Given the description of an element on the screen output the (x, y) to click on. 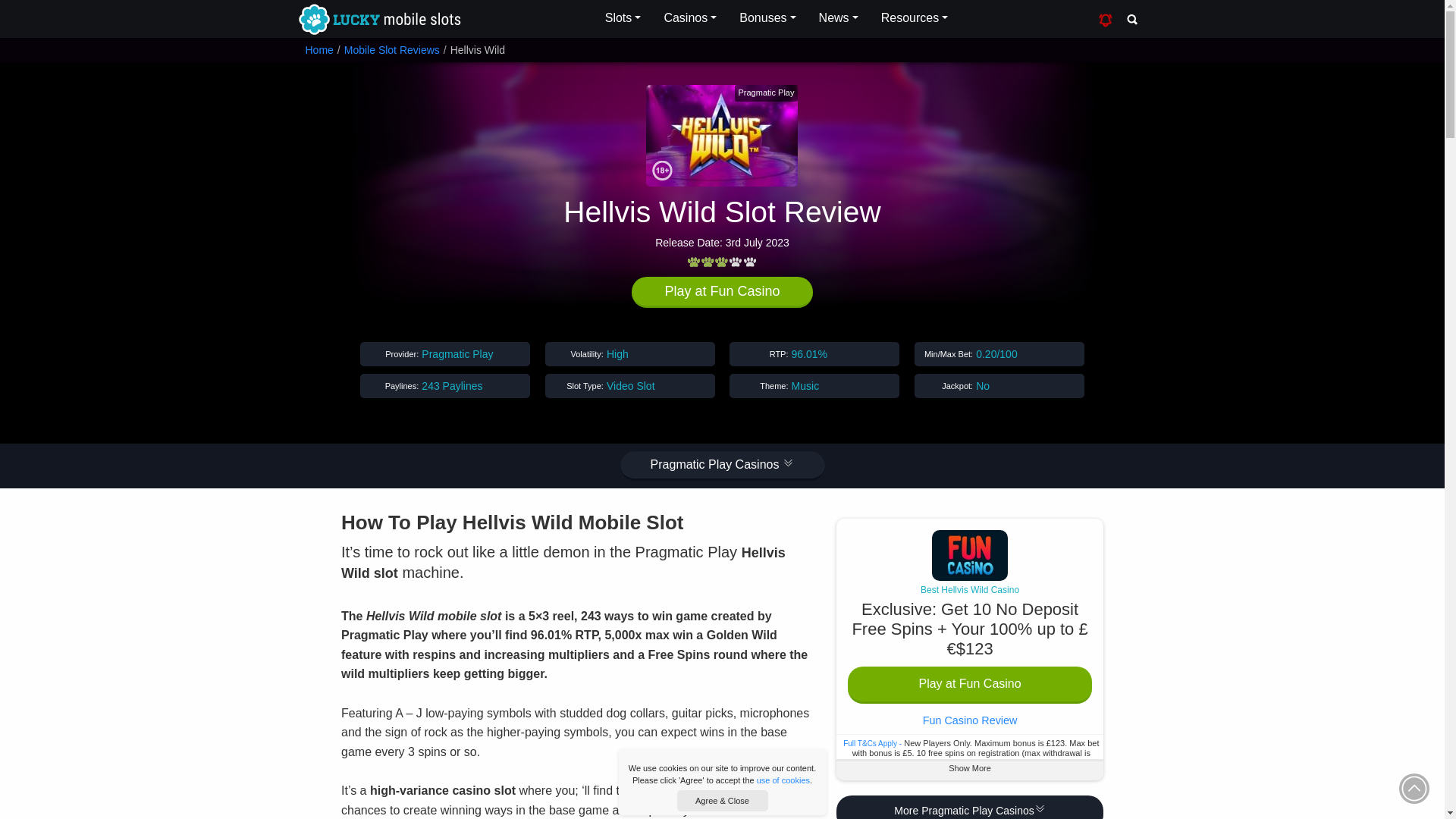
News (838, 18)
More Pragmatic Play Casinos (969, 807)
Pragmatic Play Casinos (722, 465)
Lucky Mobile Slots (378, 20)
Cookies Policy (783, 779)
Home (318, 49)
Mobile Slot Reviews (391, 49)
Slots (623, 18)
Resources (914, 18)
Casinos (690, 18)
